Given the description of an element on the screen output the (x, y) to click on. 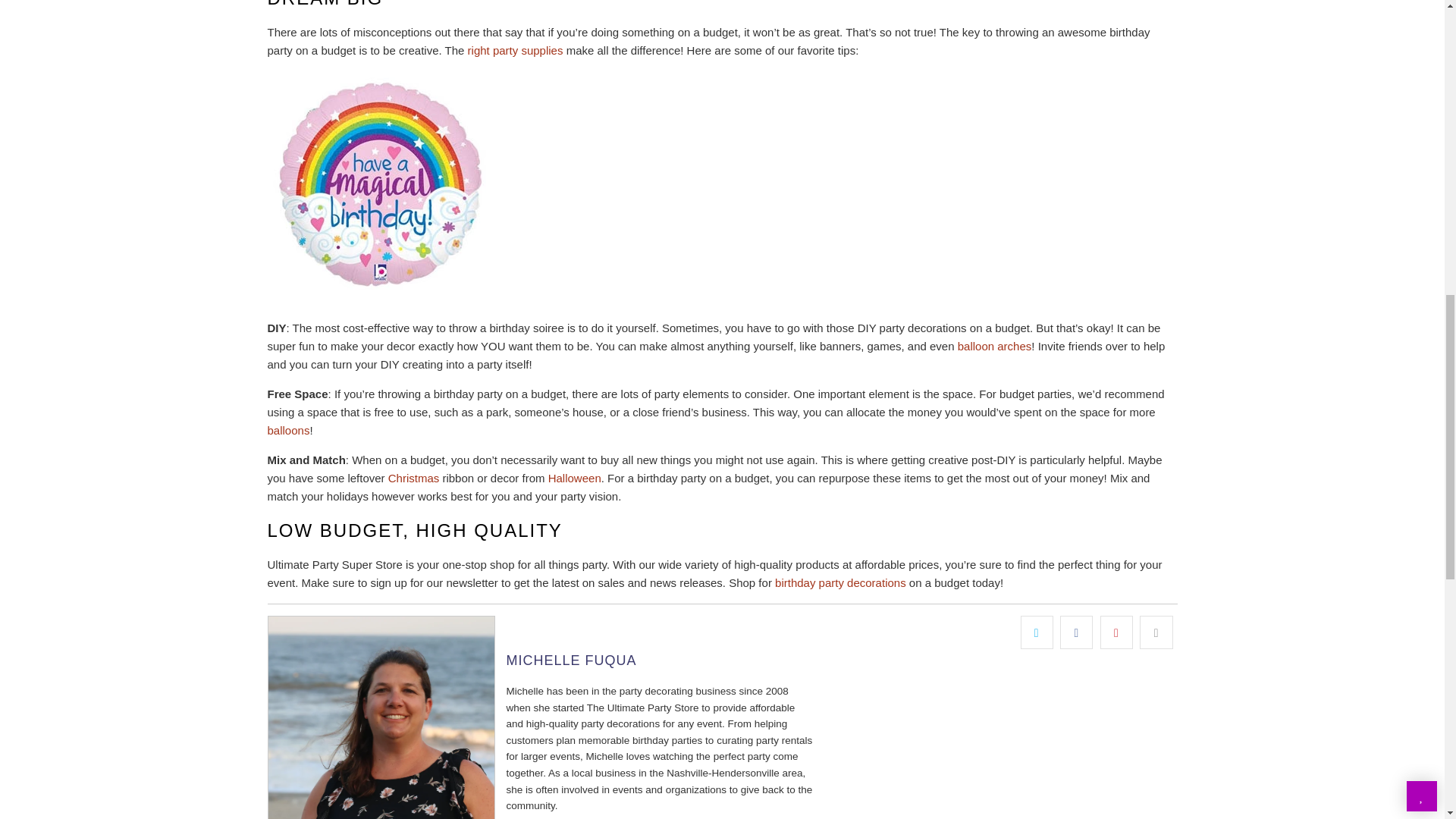
Share this on Twitter (1036, 632)
Share this on Facebook (1076, 632)
